Given the description of an element on the screen output the (x, y) to click on. 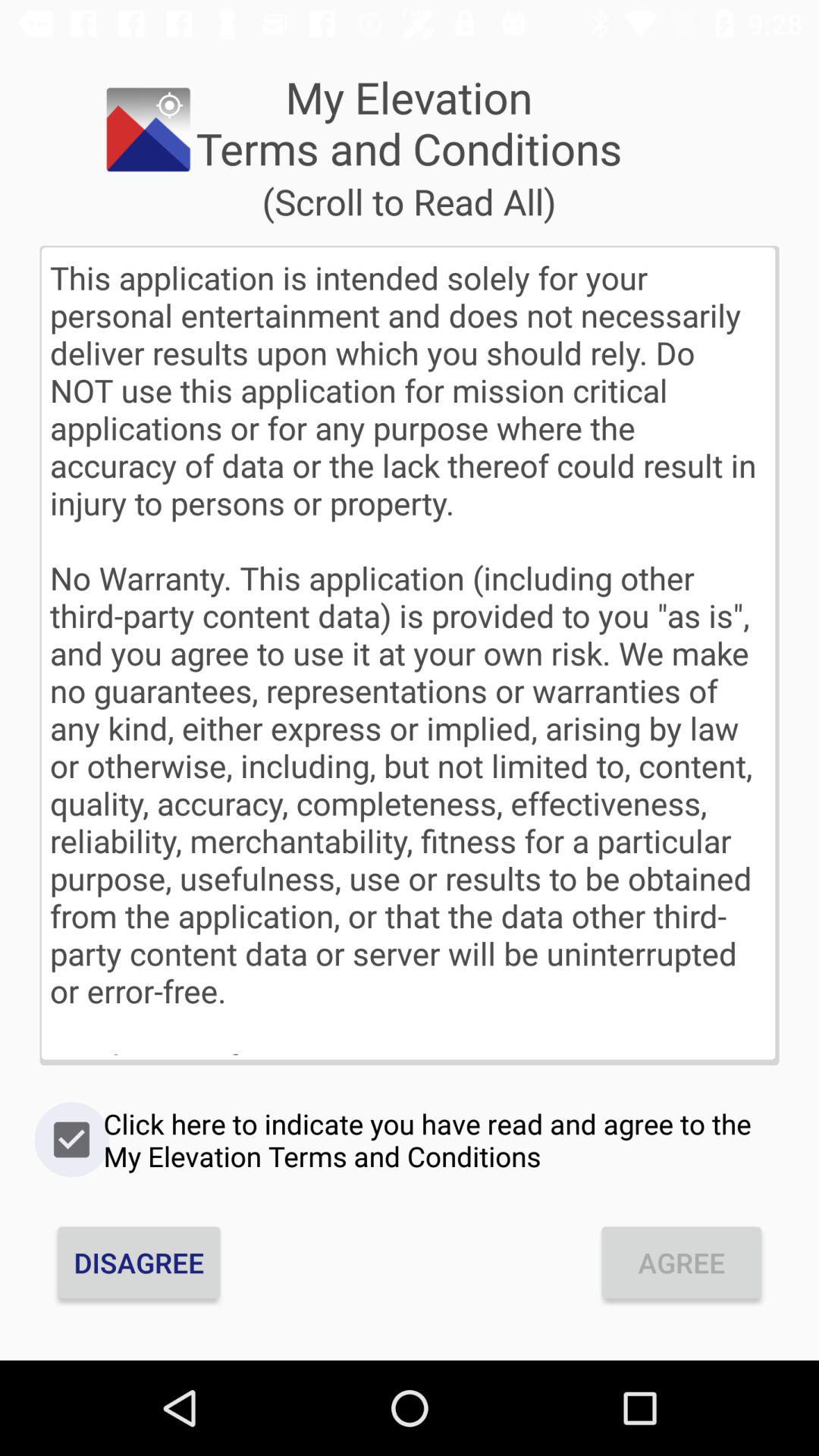
press disagree icon (139, 1262)
